Given the description of an element on the screen output the (x, y) to click on. 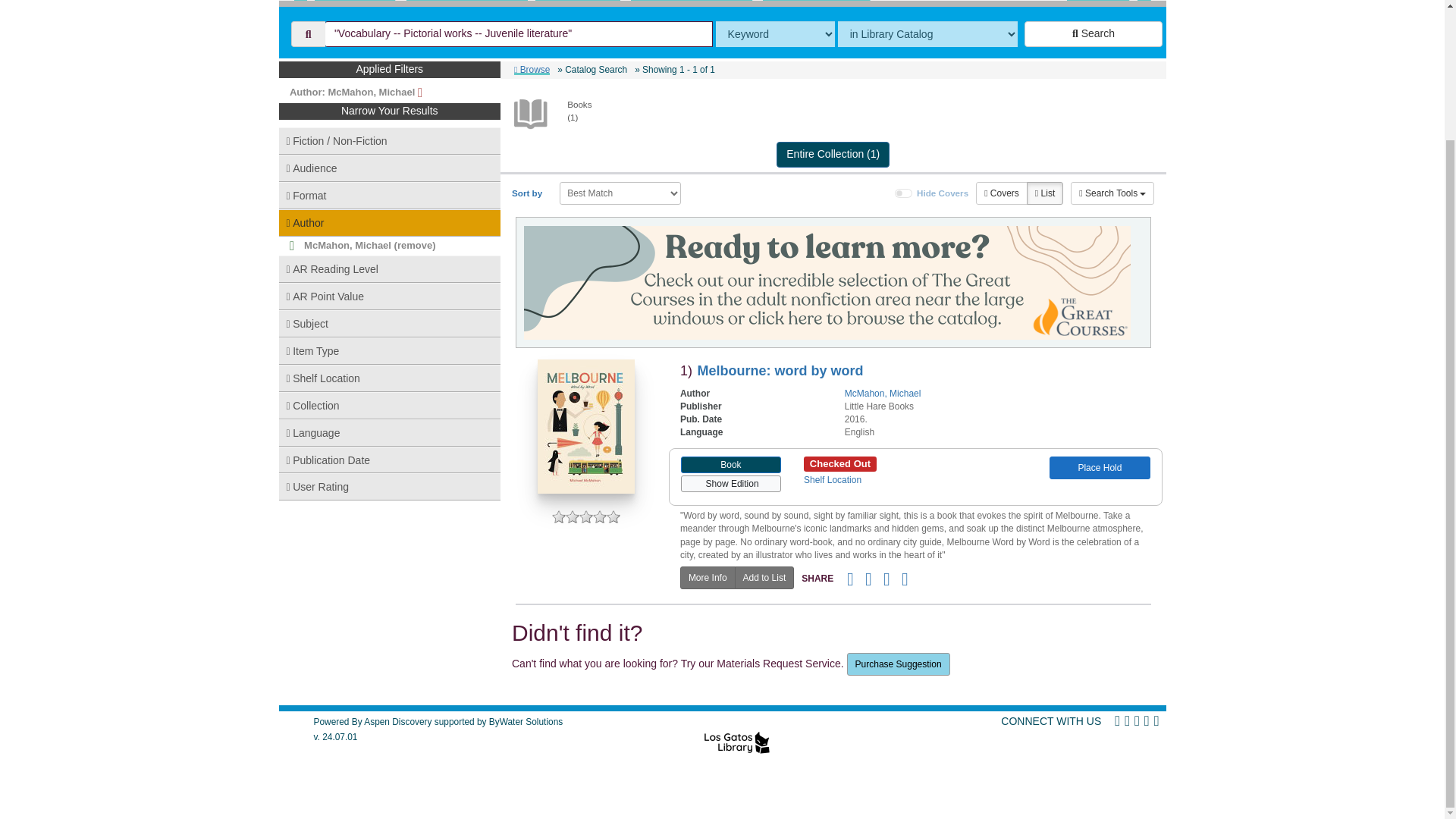
on (903, 193)
 Search (1093, 33)
"Vocabulary -- Pictorial works -- Juvenile literature" (518, 33)
SIGN IN (1098, 0)
